Given the description of an element on the screen output the (x, y) to click on. 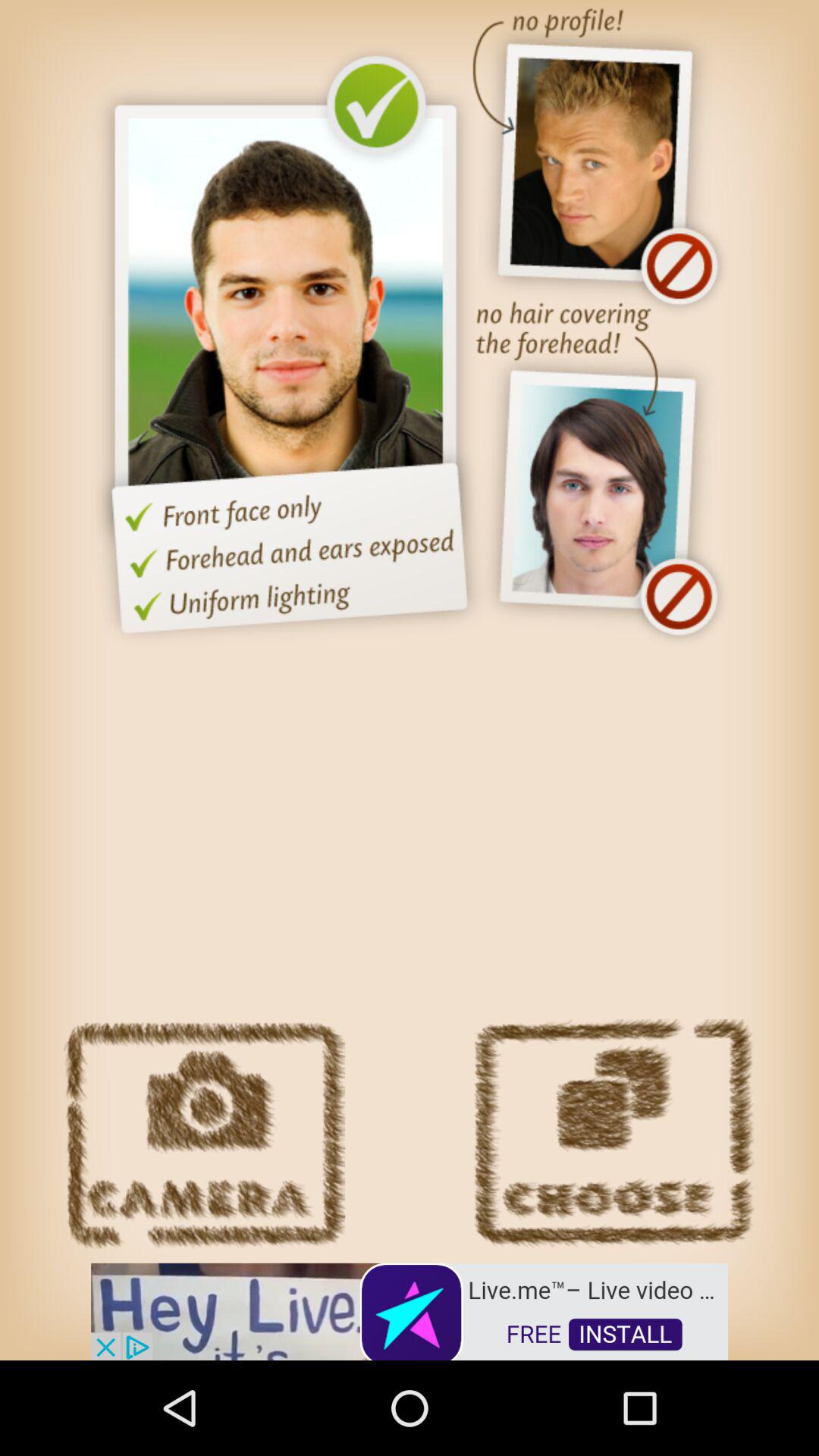
advertisement (409, 1310)
